Given the description of an element on the screen output the (x, y) to click on. 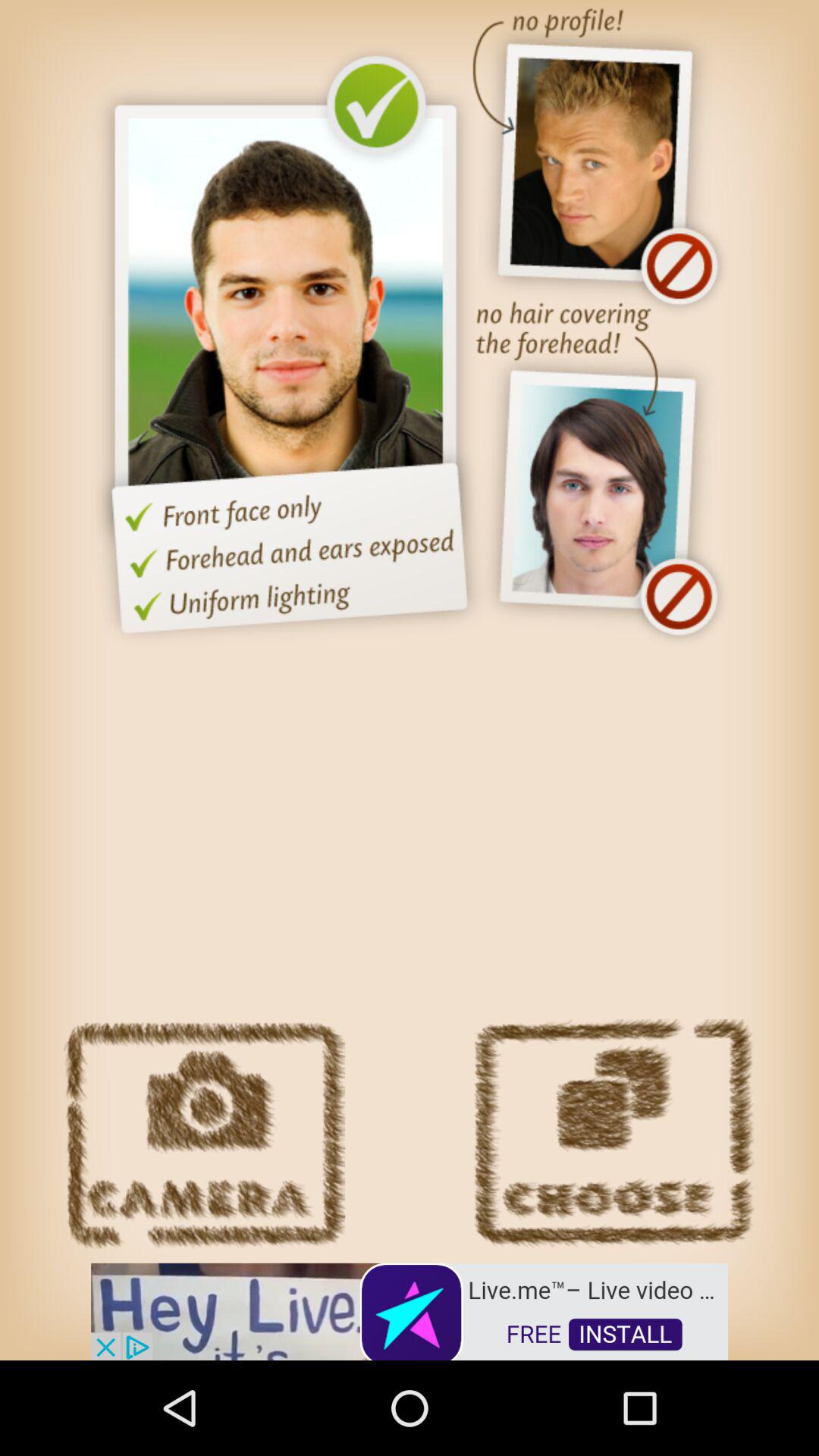
advertisement (409, 1310)
